Given the description of an element on the screen output the (x, y) to click on. 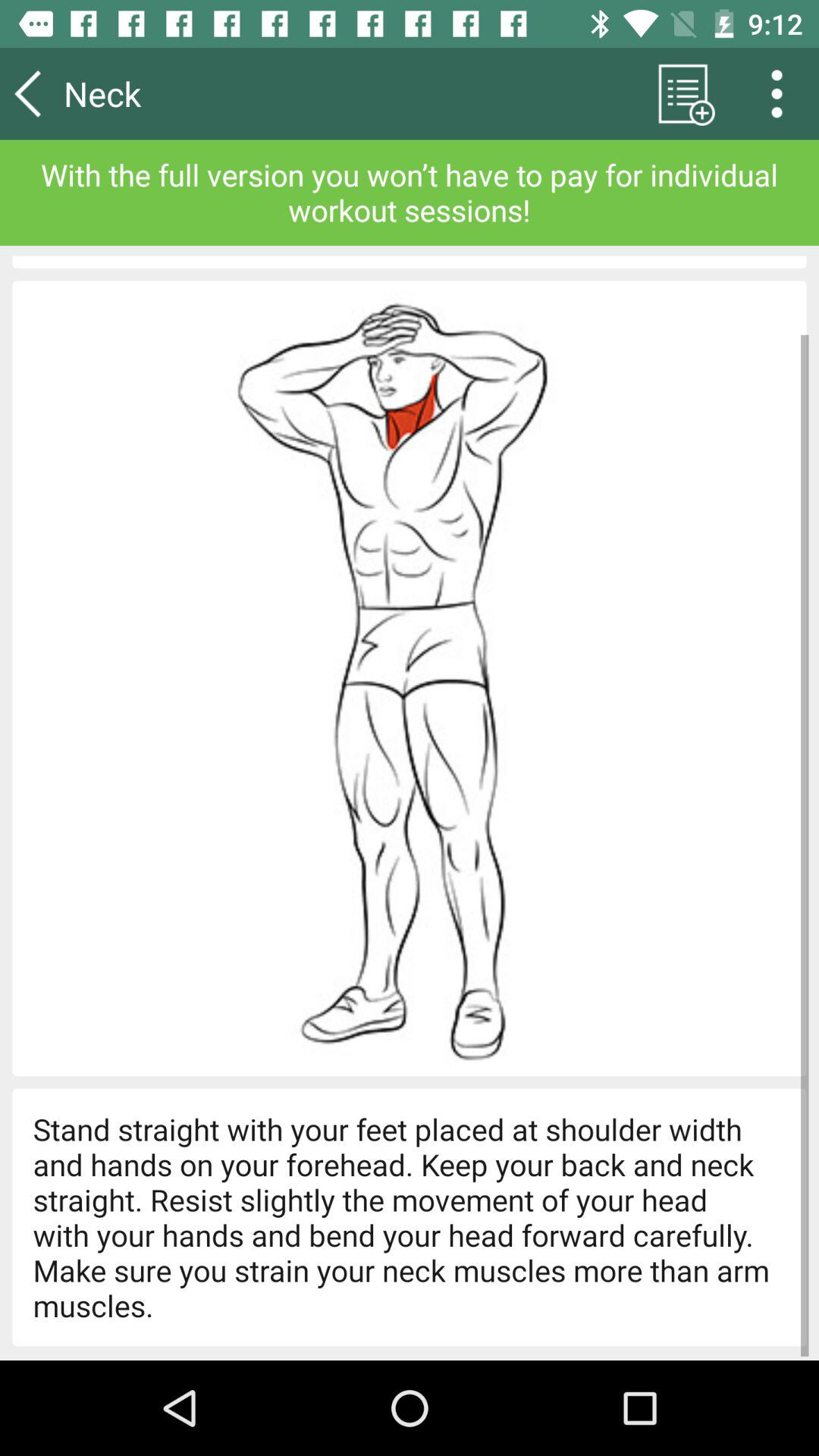
turn on the app above the with the full icon (682, 93)
